Given the description of an element on the screen output the (x, y) to click on. 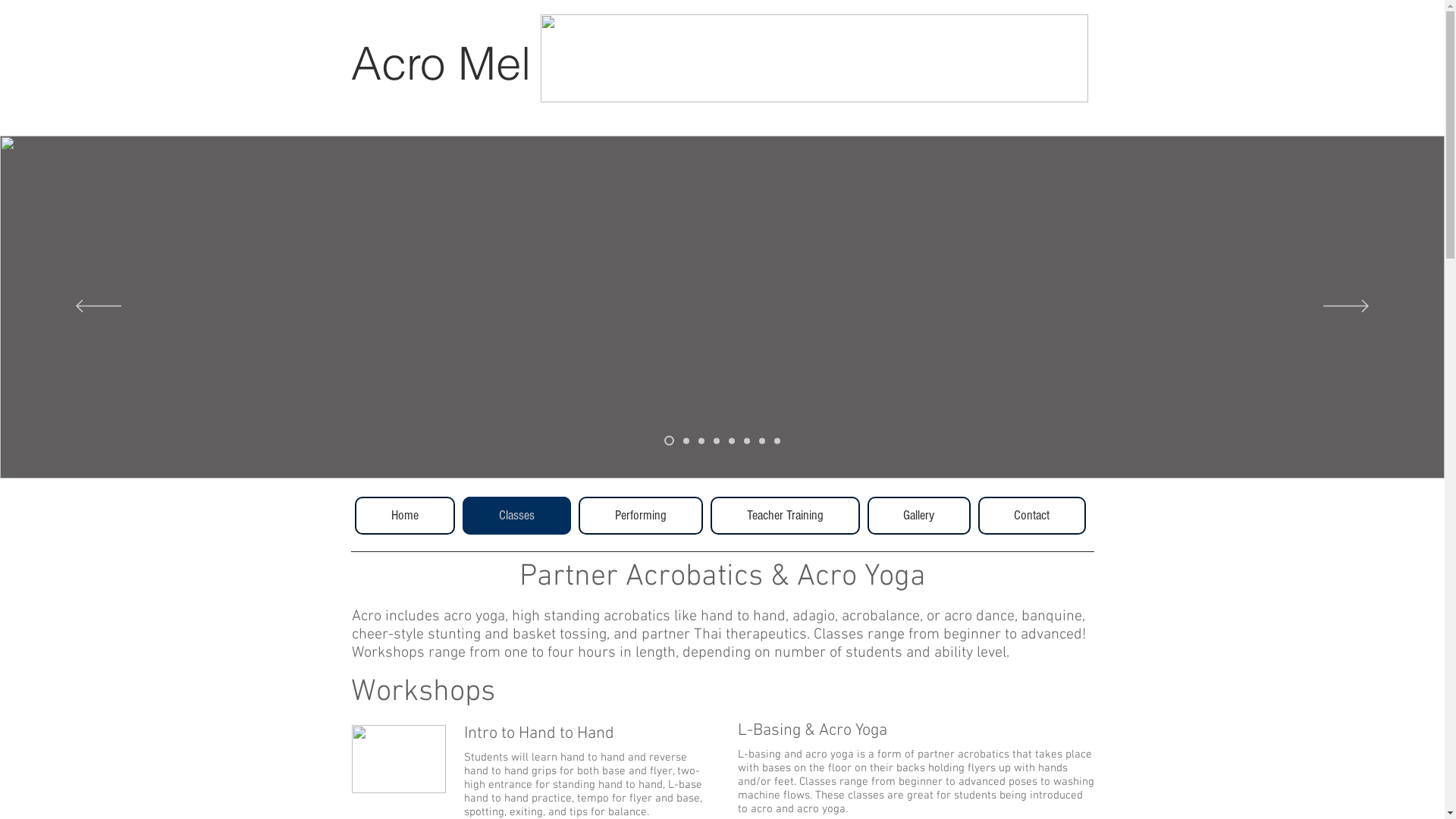
Contact Element type: text (1031, 515)
Classes Element type: text (516, 515)
Performing Element type: text (639, 515)
hand to hand Element type: hover (398, 758)
Gallery Element type: text (918, 515)
Teacher Training Element type: text (784, 515)
Home Element type: text (404, 515)
